Given the description of an element on the screen output the (x, y) to click on. 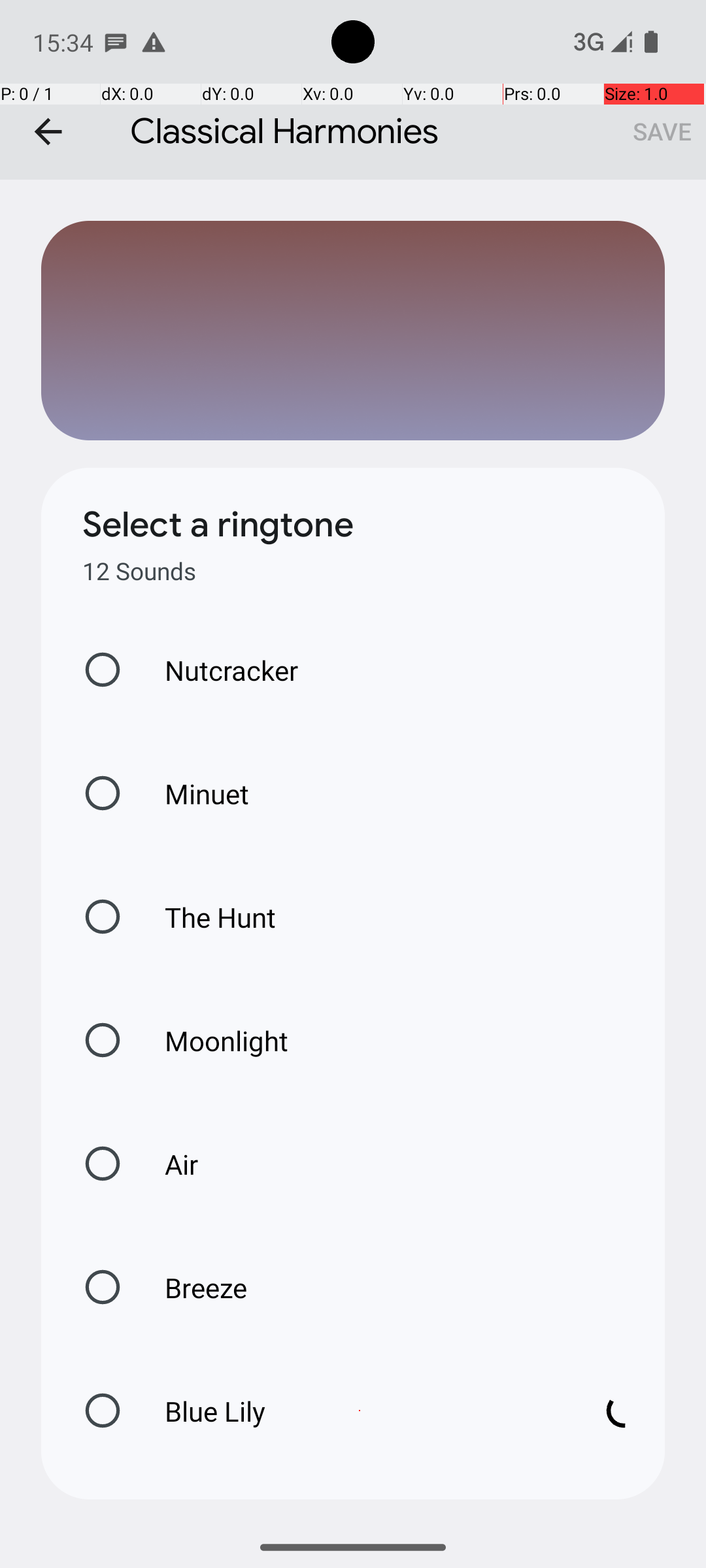
Classical Harmonies Element type: android.widget.FrameLayout (353, 89)
Select a ringtone Element type: android.widget.TextView (217, 524)
12 Sounds Element type: android.widget.TextView (139, 570)
Nutcracker Element type: android.widget.TextView (217, 669)
Minuet Element type: android.widget.TextView (193, 793)
The Hunt Element type: android.widget.TextView (206, 916)
Moonlight Element type: android.widget.TextView (212, 1040)
Air Element type: android.widget.TextView (167, 1163)
Breeze Element type: android.widget.TextView (192, 1287)
Blue Lily Element type: android.widget.TextView (359, 1410)
Download in progress Element type: android.widget.ImageView (623, 1410)
